Given the description of an element on the screen output the (x, y) to click on. 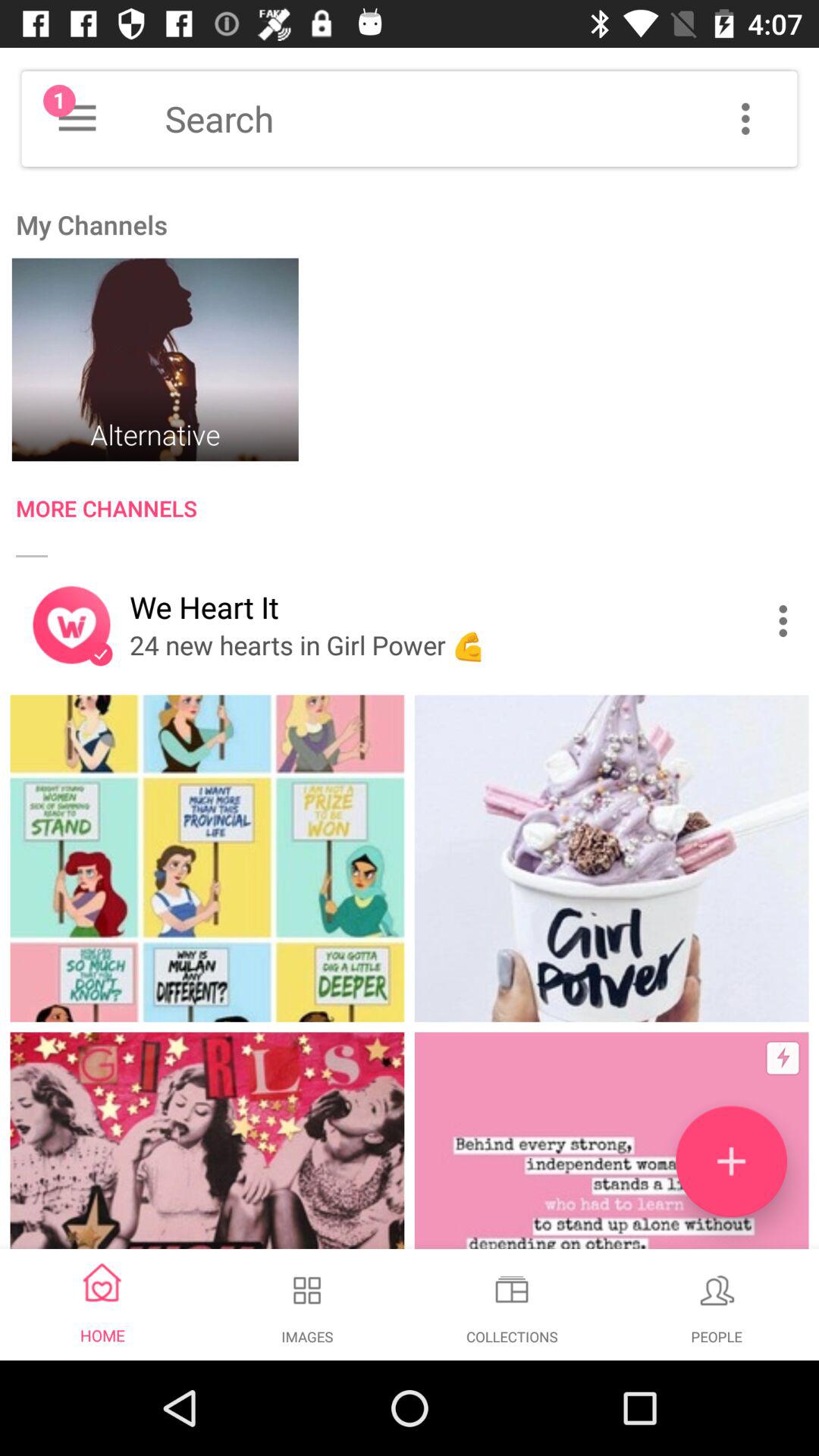
launch the item next to we heart it icon (787, 620)
